Given the description of an element on the screen output the (x, y) to click on. 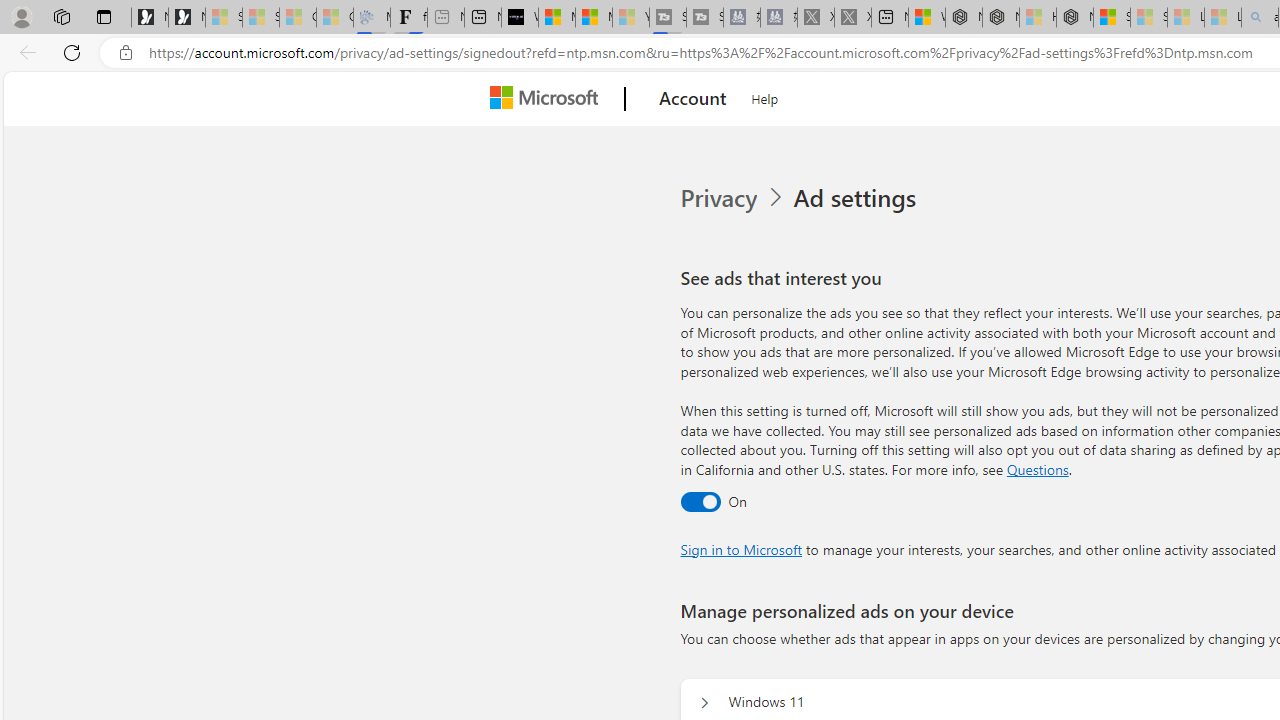
Nordace - Nordace Siena Is Not An Ordinary Backpack (1075, 17)
